Given the description of an element on the screen output the (x, y) to click on. 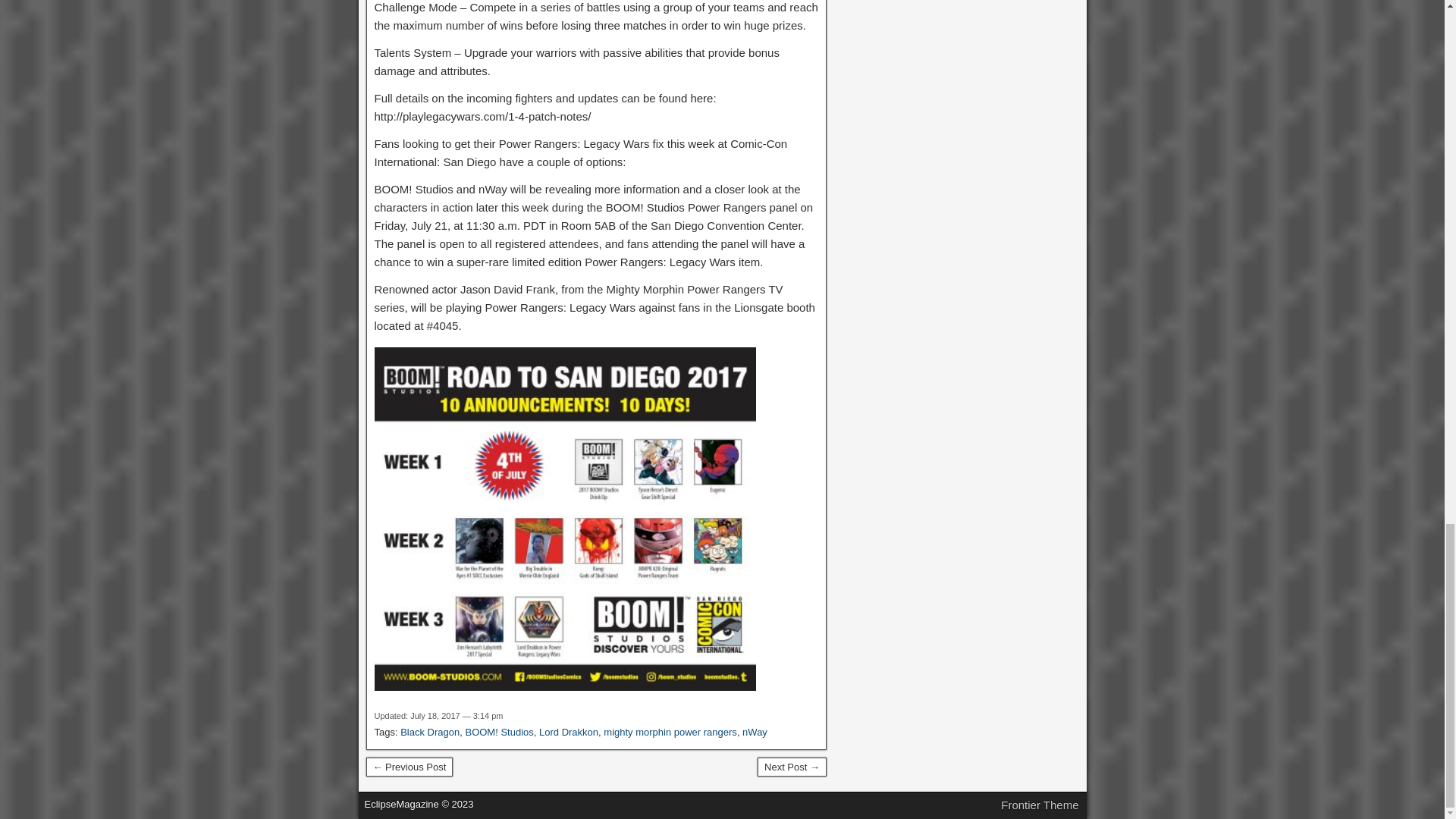
Stuck In The Past Trailer: Outlander: Season Three! (792, 767)
nWay (754, 731)
BOOM! Studios (498, 731)
Black Dragon (430, 731)
Lord Drakkon (568, 731)
mighty morphin power rangers (670, 731)
